Given the description of an element on the screen output the (x, y) to click on. 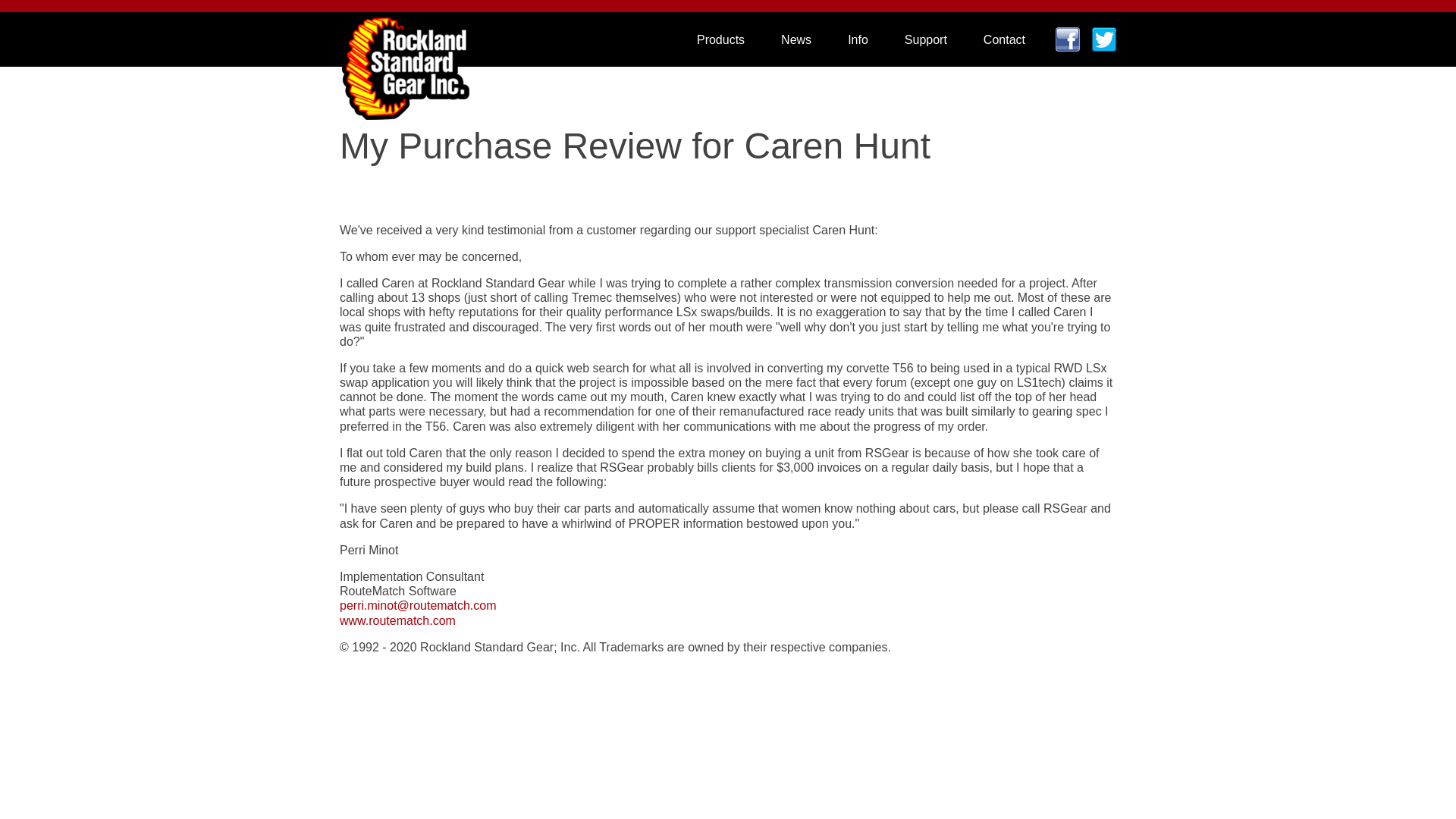
Contact (1004, 40)
News (795, 40)
www.routematch.com (397, 620)
Products (720, 40)
Support (925, 40)
Home (405, 57)
Info (857, 40)
